Given the description of an element on the screen output the (x, y) to click on. 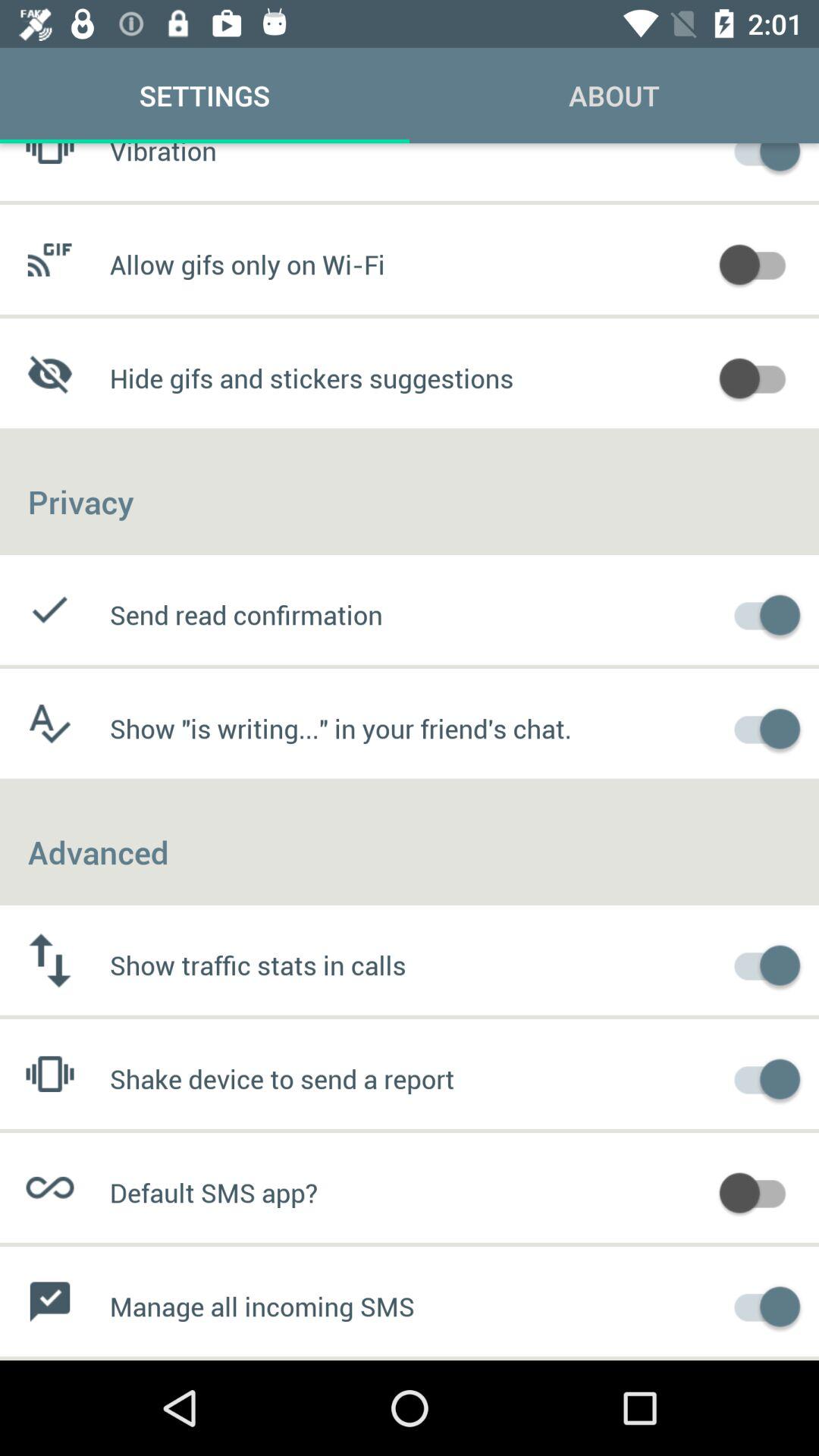
press to activate default sms app (759, 1191)
